Given the description of an element on the screen output the (x, y) to click on. 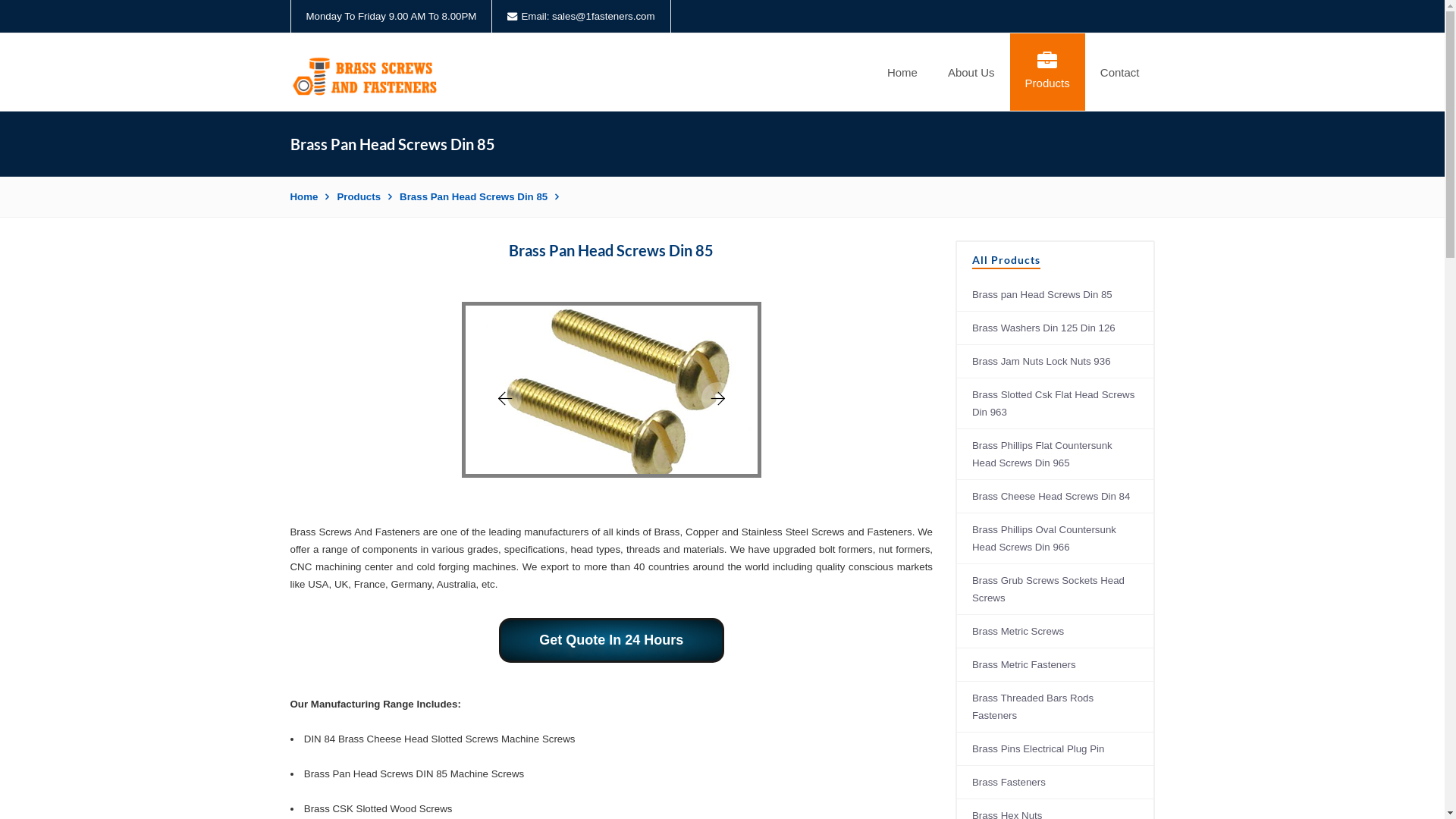
Brass Pins Electrical Plug Pin Element type: text (1055, 748)
sales@1fasteners.com Element type: text (603, 15)
Brass Pan Head Screws Din 85 Element type: text (478, 196)
Brass Grub Screws Sockets Head Screws Element type: text (1055, 589)
Brass Cheese Head Screws Din 84 Element type: text (1055, 496)
Products Element type: text (1047, 71)
Brass Metric Fasteners Element type: text (1055, 664)
Brass Slotted Csk Flat Head Screws Din 963 Element type: text (1055, 403)
Brass pan Head Screws Din 85 Element type: text (1055, 294)
Brass Threaded Bars Rods Fasteners Element type: text (1055, 706)
Home Element type: text (902, 71)
Brass Phillips Oval Countersunk Head Screws Din 966 Element type: text (1055, 538)
Brass Washers Din 125 Din 126 Element type: text (1055, 328)
About Us Element type: text (971, 71)
Brass Jam Nuts Lock Nuts 936 Element type: text (1055, 361)
Get Quote In 24 Hours Element type: text (611, 640)
Brass Phillips Flat Countersunk Head Screws Din 965 Element type: text (1055, 454)
Products Element type: text (364, 196)
Brass Fasteners Element type: text (1055, 782)
Contact Element type: text (1119, 71)
Brass Metric Screws Element type: text (1055, 631)
Home Element type: text (309, 196)
